Given the description of an element on the screen output the (x, y) to click on. 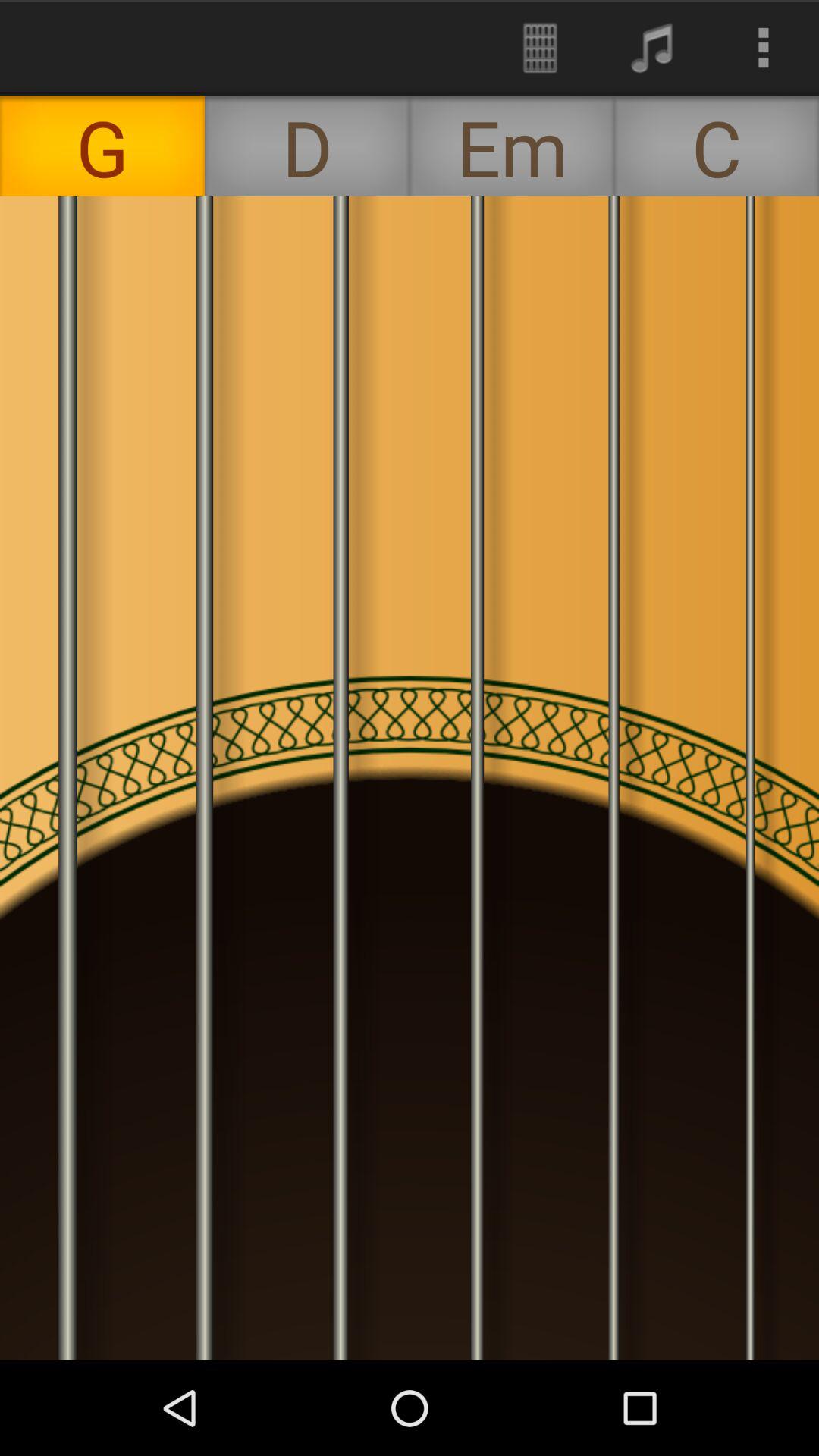
choose the item next to g item (306, 145)
